Given the description of an element on the screen output the (x, y) to click on. 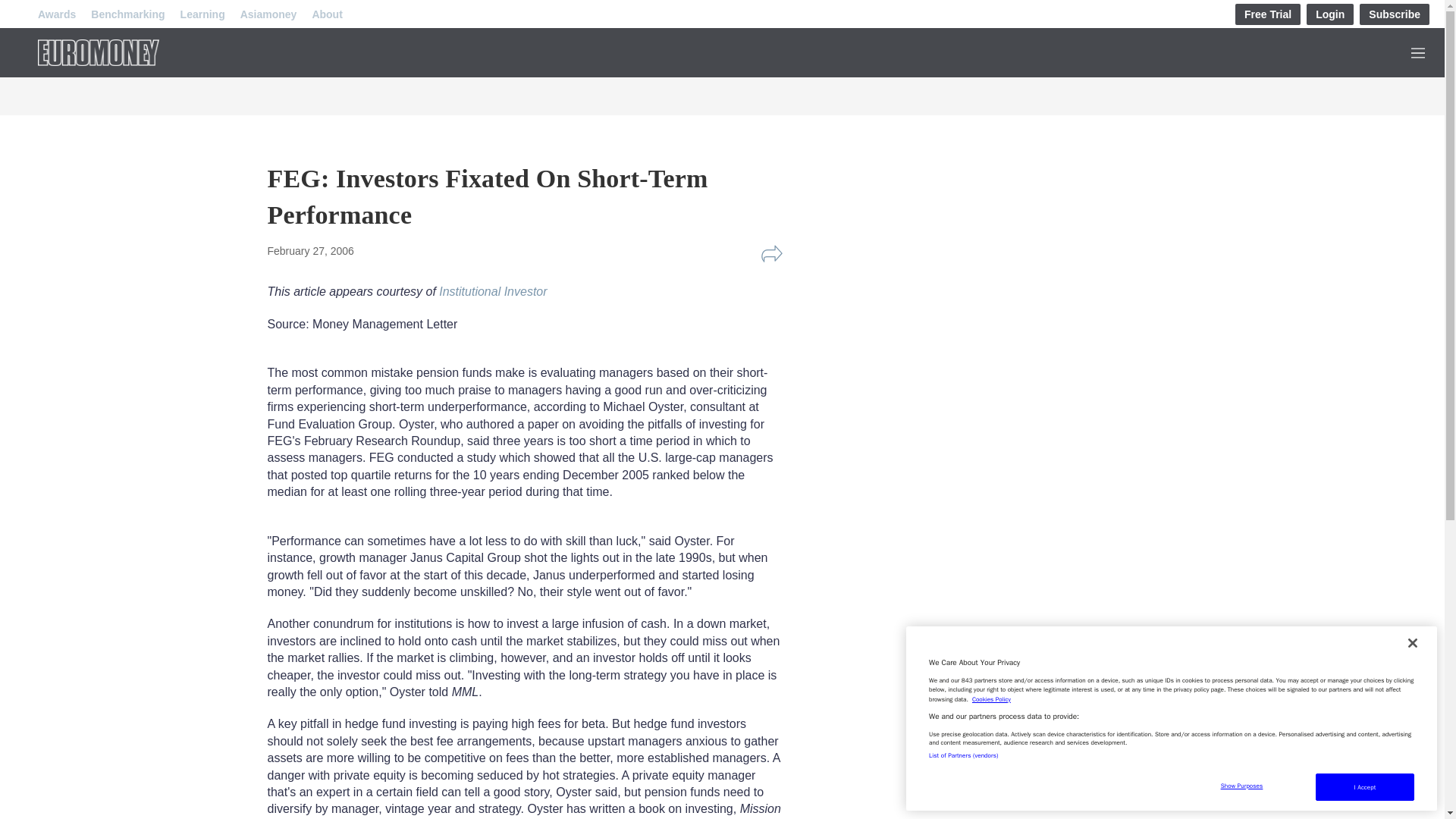
About (326, 13)
Learning (202, 13)
Share (771, 253)
Awards (56, 13)
Login (1329, 13)
Benchmarking (127, 13)
Free Trial (1267, 13)
Asiamoney (268, 13)
Subscribe (1394, 13)
